Given the description of an element on the screen output the (x, y) to click on. 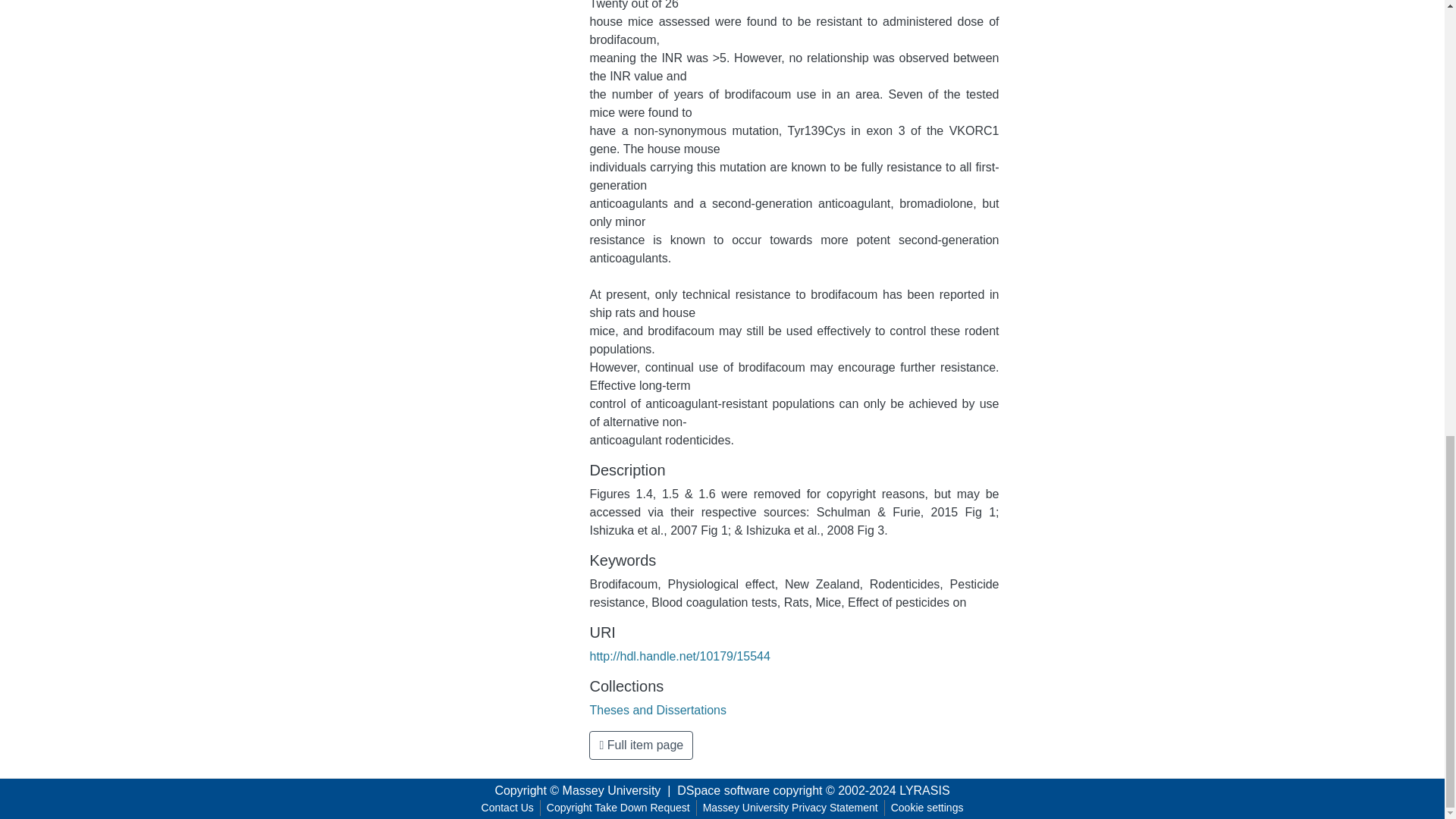
DSpace software (723, 789)
Contact Us (508, 807)
Full item page (641, 745)
LYRASIS (924, 789)
Theses and Dissertations (657, 709)
Copyright Take Down Request (617, 807)
